Given the description of an element on the screen output the (x, y) to click on. 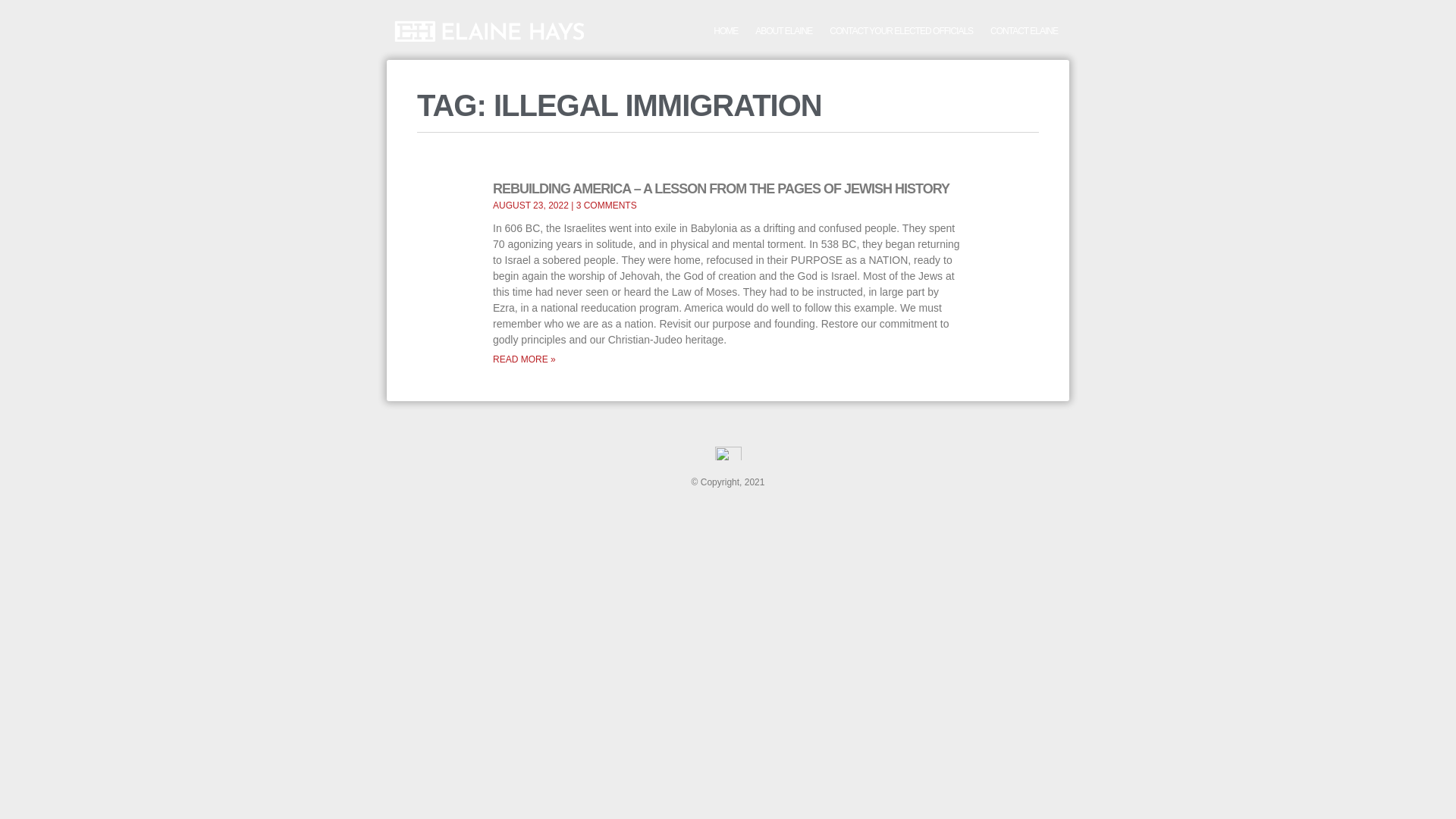
ABOUT ELAINE (783, 30)
CONTACT YOUR ELECTED OFFICIALS (900, 30)
CONTACT ELAINE (1024, 30)
HOME (725, 30)
